Given the description of an element on the screen output the (x, y) to click on. 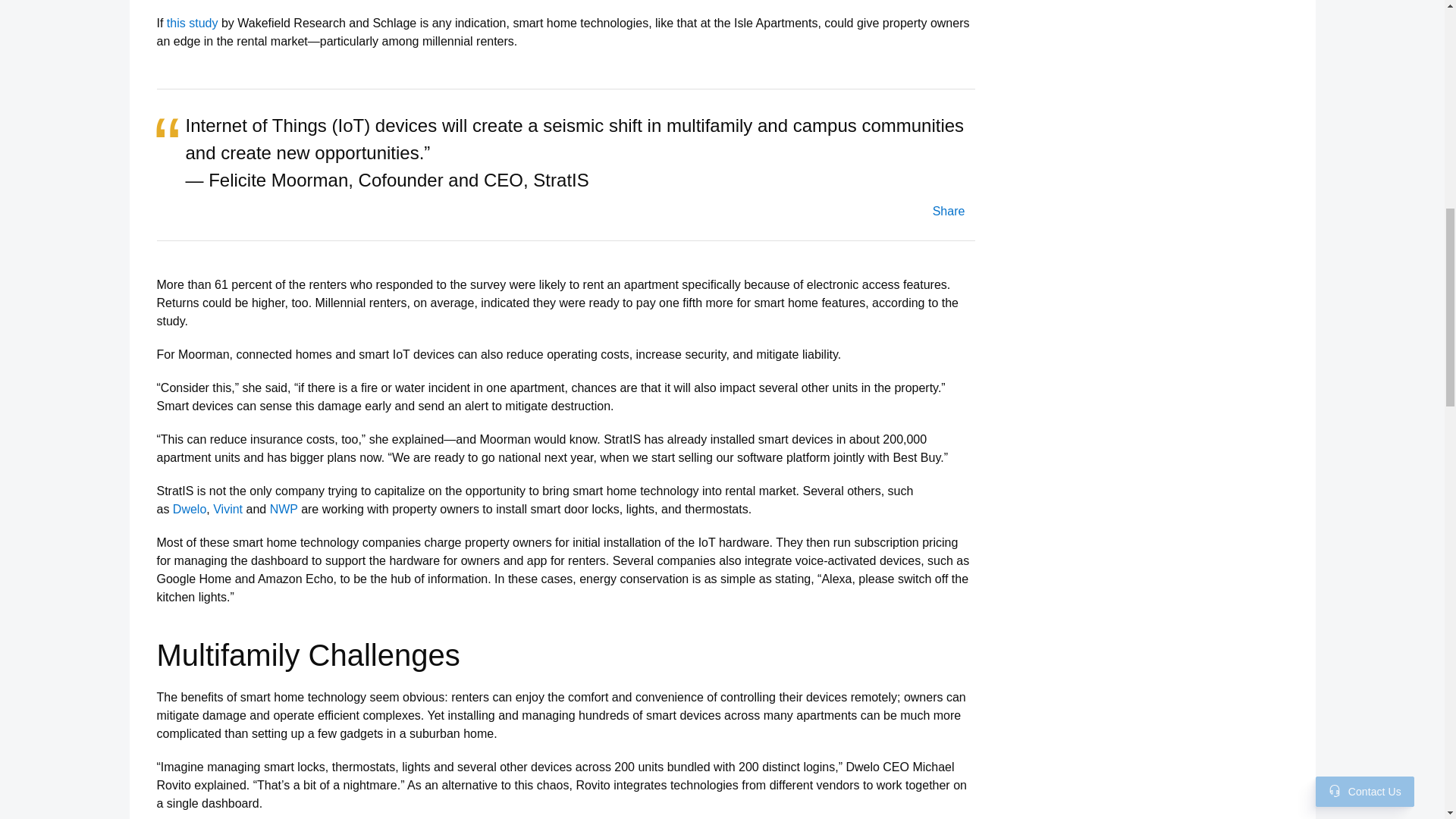
twitter (947, 210)
